Given the description of an element on the screen output the (x, y) to click on. 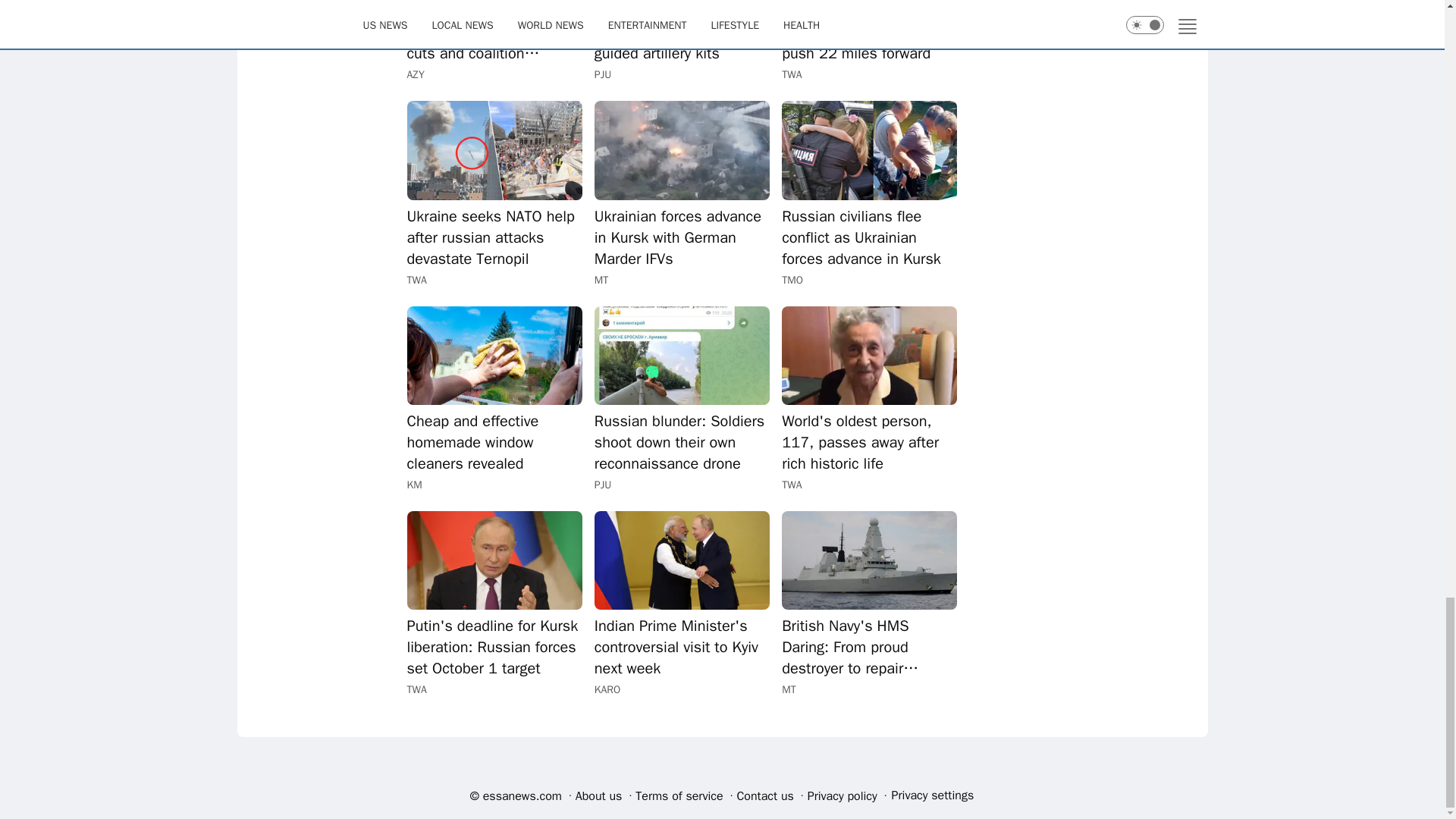
Ukrainian forces advance in Kursk with German Marder IFVs (682, 238)
Cheap and effective homemade window cleaners revealed (493, 355)
Cheap and effective homemade window cleaners revealed (493, 443)
Cheap and effective homemade window cleaners revealed (493, 443)
